Given the description of an element on the screen output the (x, y) to click on. 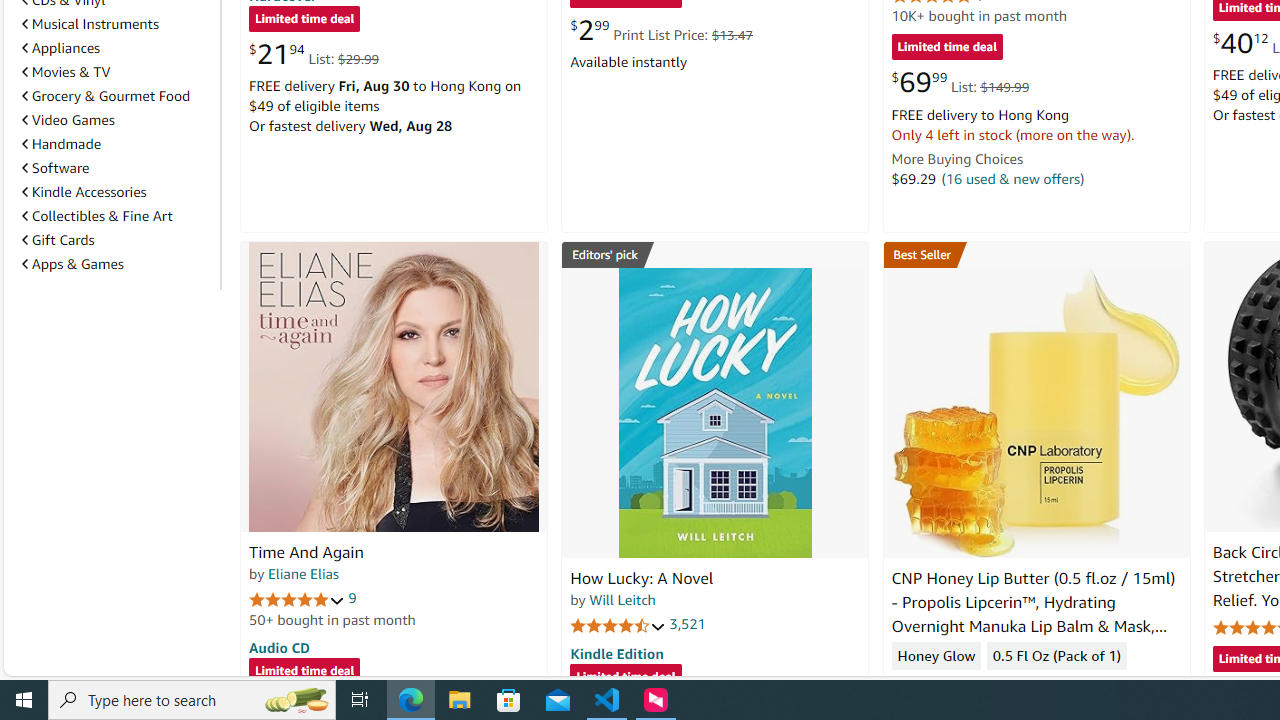
Kindle Accessories (117, 192)
Handmade (61, 143)
(16 used & new offers) (1012, 178)
Musical Instruments (89, 24)
3,521 (687, 624)
$2.99 Print List Price: $13.47 (660, 30)
$21.94 List: $29.99 (314, 54)
Gift Cards (117, 239)
Limited time deal (625, 678)
Appliances (61, 47)
Eliane Elias (303, 573)
$69.99 List: $149.99 (960, 82)
Time And Again (393, 386)
